Given the description of an element on the screen output the (x, y) to click on. 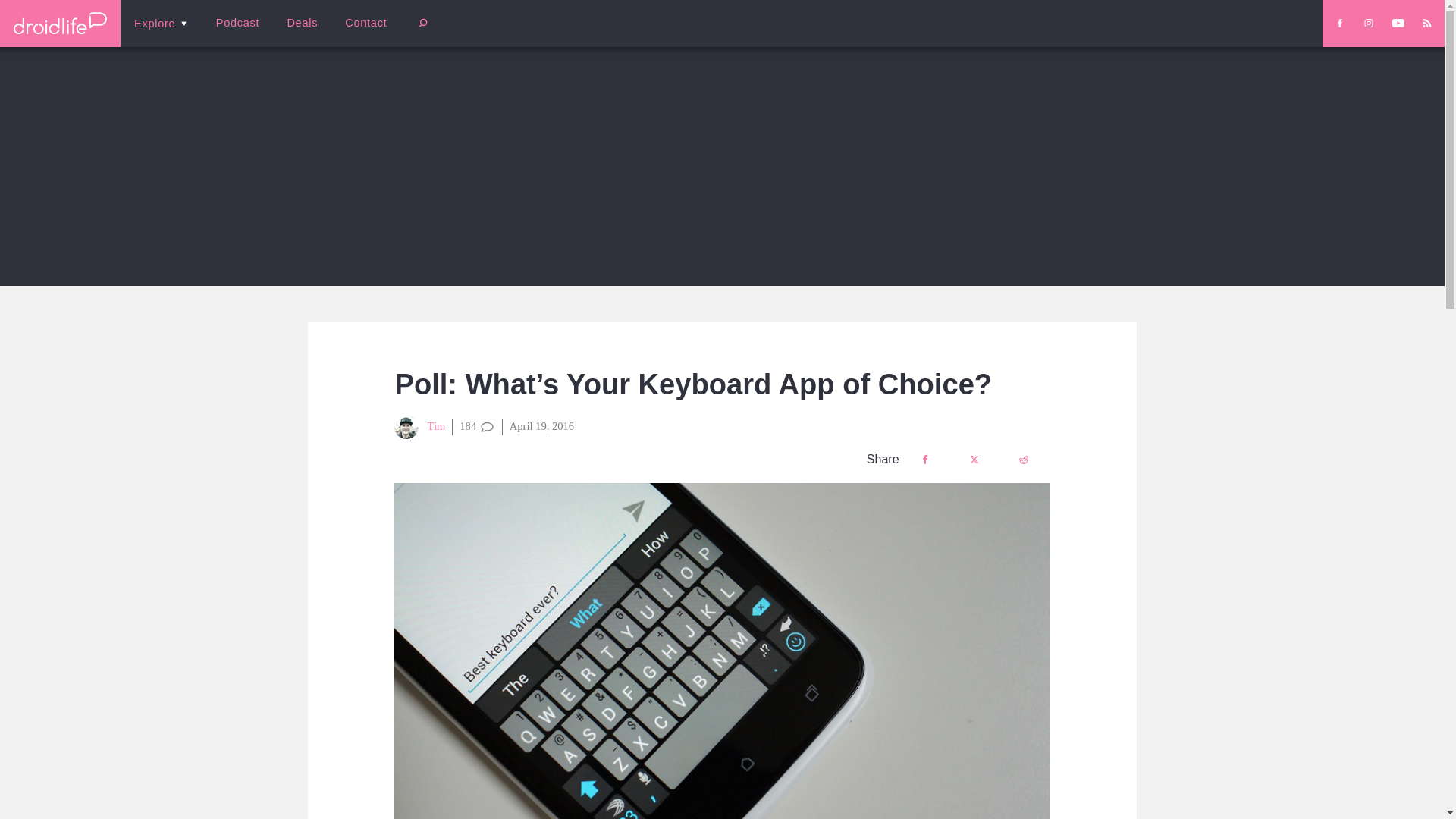
Droid Life RSS (1426, 23)
Explore (161, 23)
Deals (302, 23)
Tim (419, 426)
Podcast (237, 23)
Droid Life on Facebook (1339, 23)
Droid Life on Instagram (1368, 23)
Contact (365, 23)
Droid Life on YouTube (1398, 23)
Beginners' Guide (360, 33)
